Given the description of an element on the screen output the (x, y) to click on. 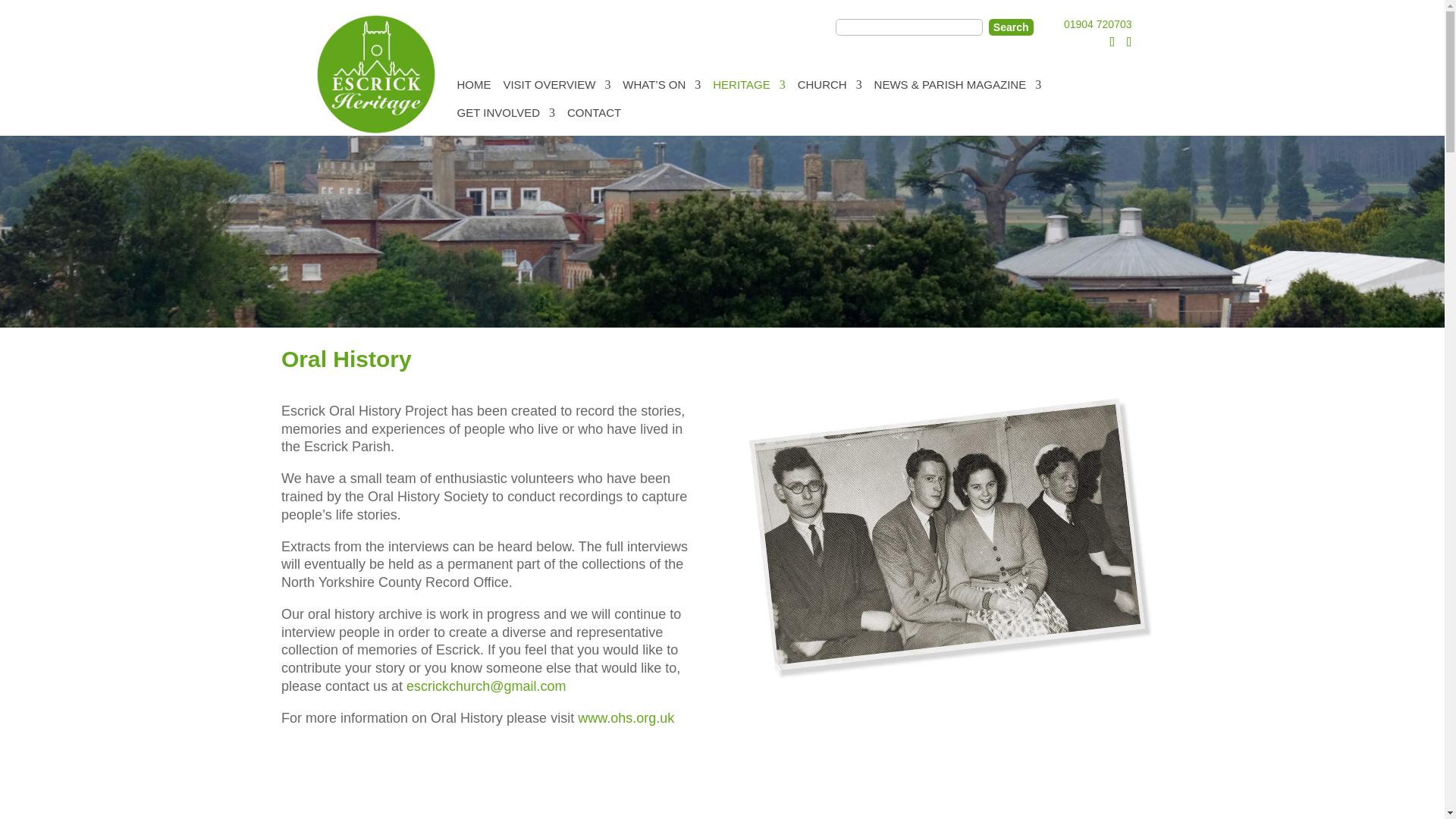
HERITAGE (749, 85)
CHURCH (829, 85)
HOME (473, 85)
Search (1010, 26)
Search (1010, 26)
VISIT OVERVIEW (556, 85)
